Given the description of an element on the screen output the (x, y) to click on. 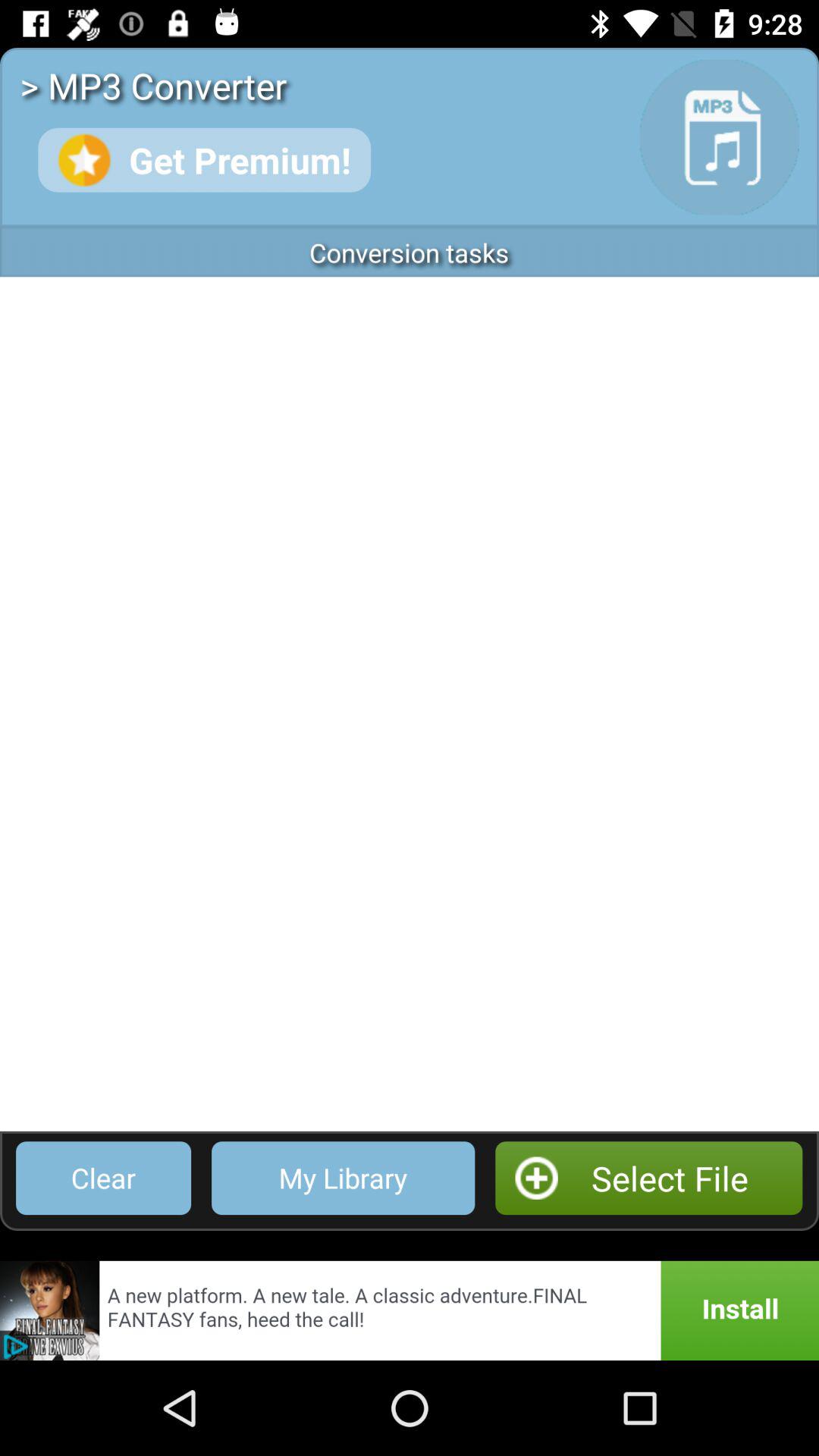
flip to select file (648, 1177)
